Given the description of an element on the screen output the (x, y) to click on. 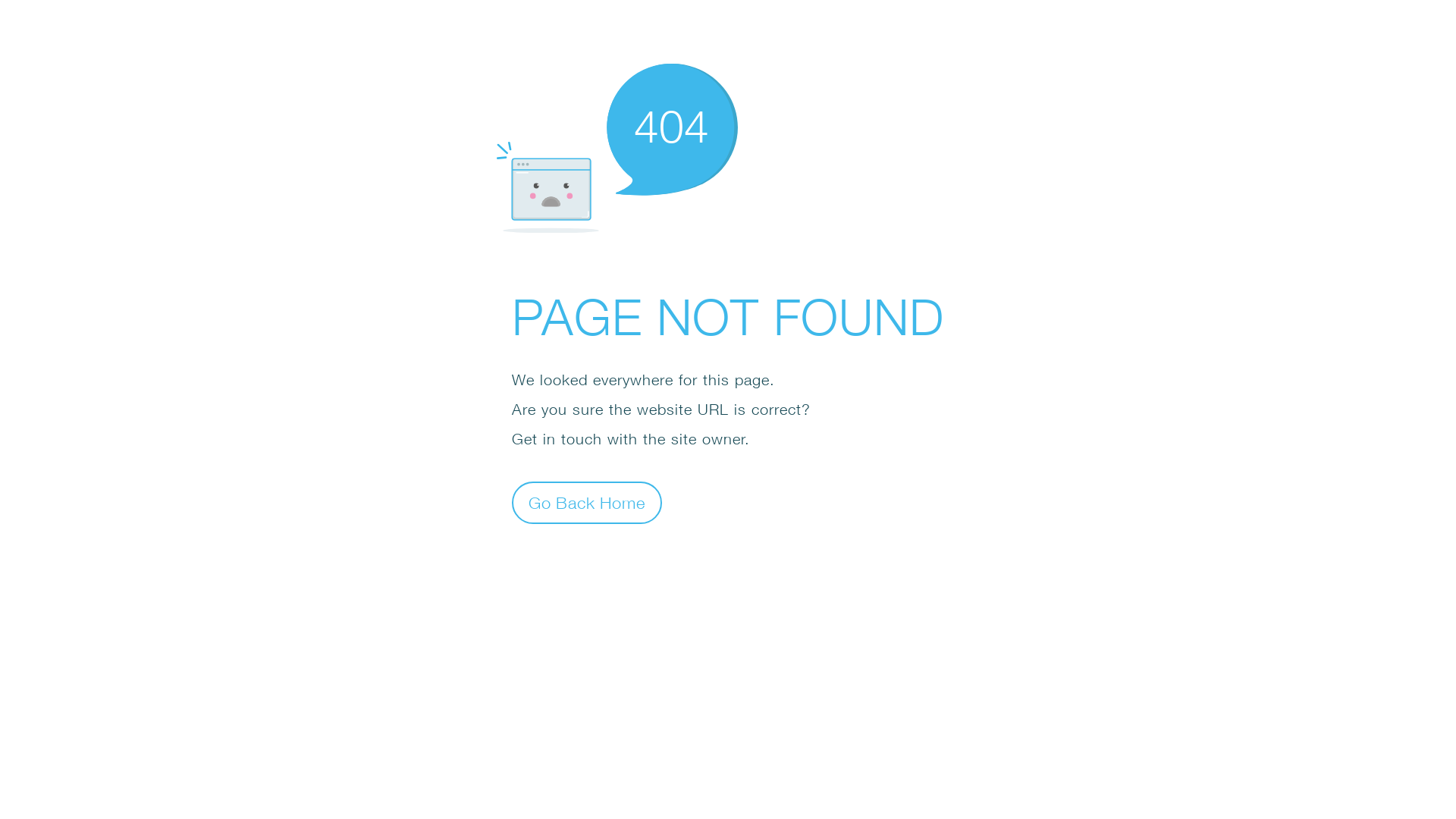
Go Back Home Element type: text (586, 502)
